Given the description of an element on the screen output the (x, y) to click on. 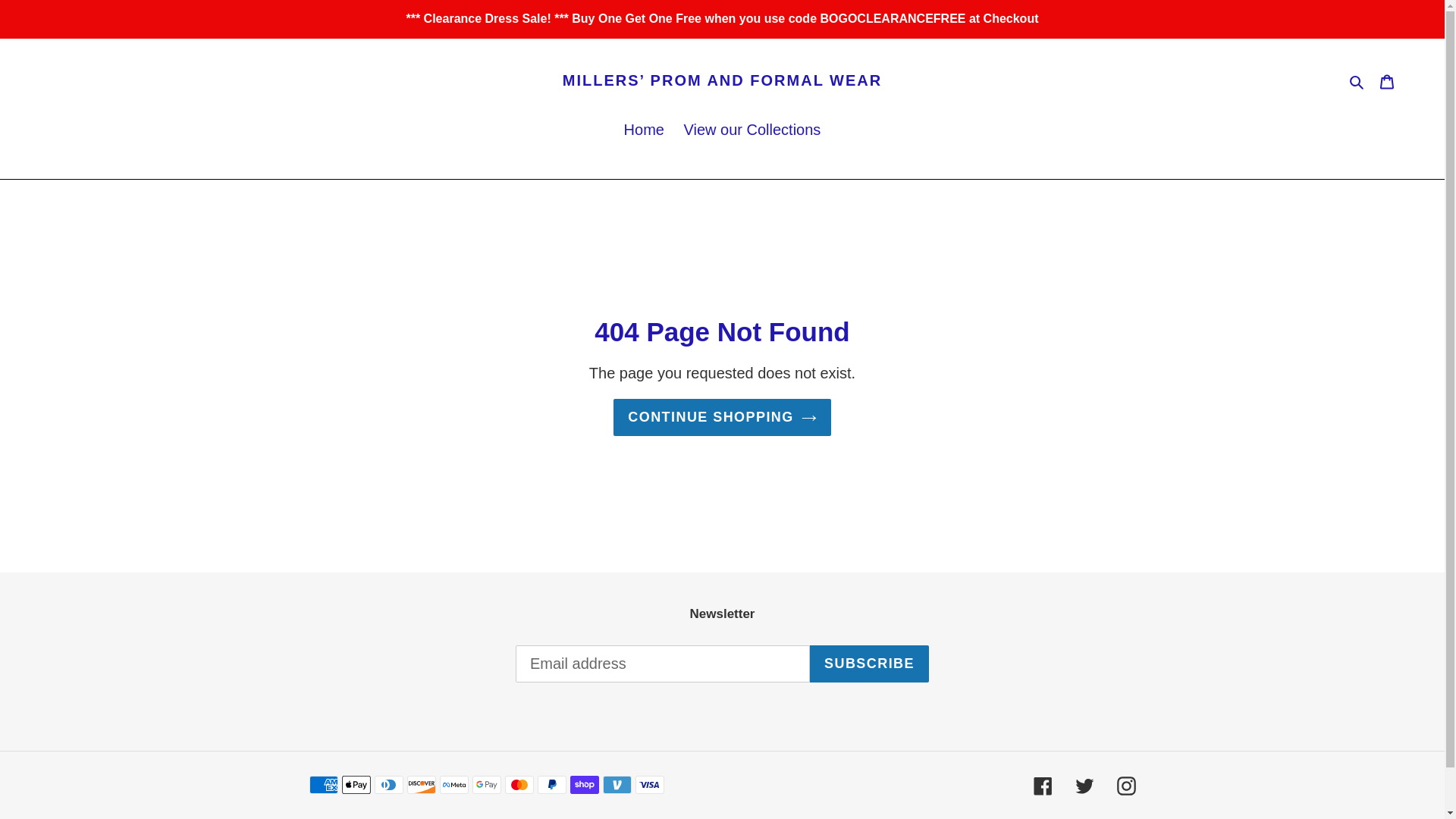
View our Collections (752, 130)
Home (643, 130)
SUBSCRIBE (868, 663)
Search (1357, 79)
CONTINUE SHOPPING (721, 416)
